Given the description of an element on the screen output the (x, y) to click on. 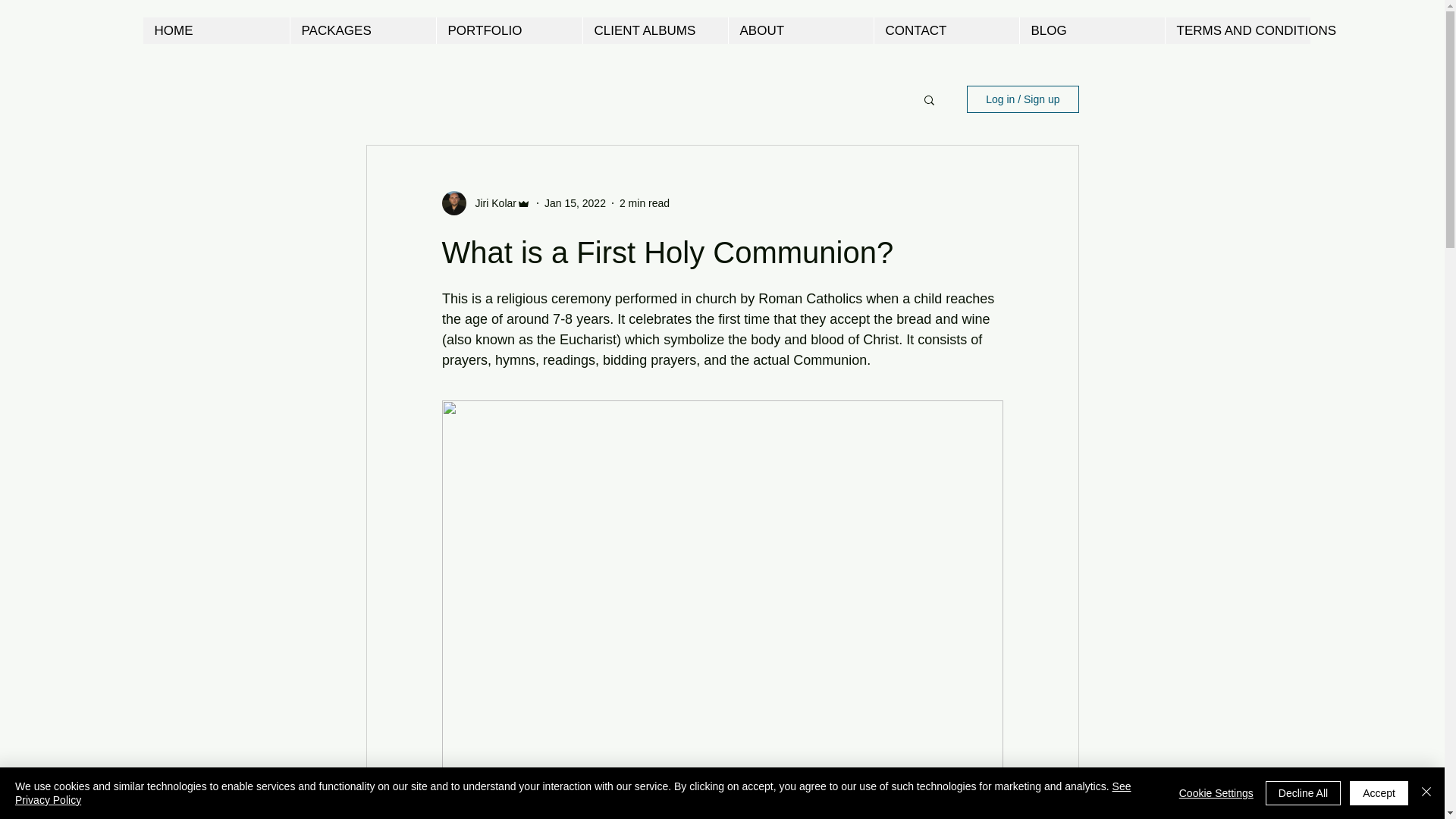
See Privacy Policy (572, 792)
Jan 15, 2022 (574, 203)
CONTACT (946, 30)
HOME (215, 30)
Decline All (1302, 793)
2 min read (644, 203)
ABOUT (800, 30)
Accept (1378, 793)
BLOG (1091, 30)
CLIENT ALBUMS (655, 30)
